Given the description of an element on the screen output the (x, y) to click on. 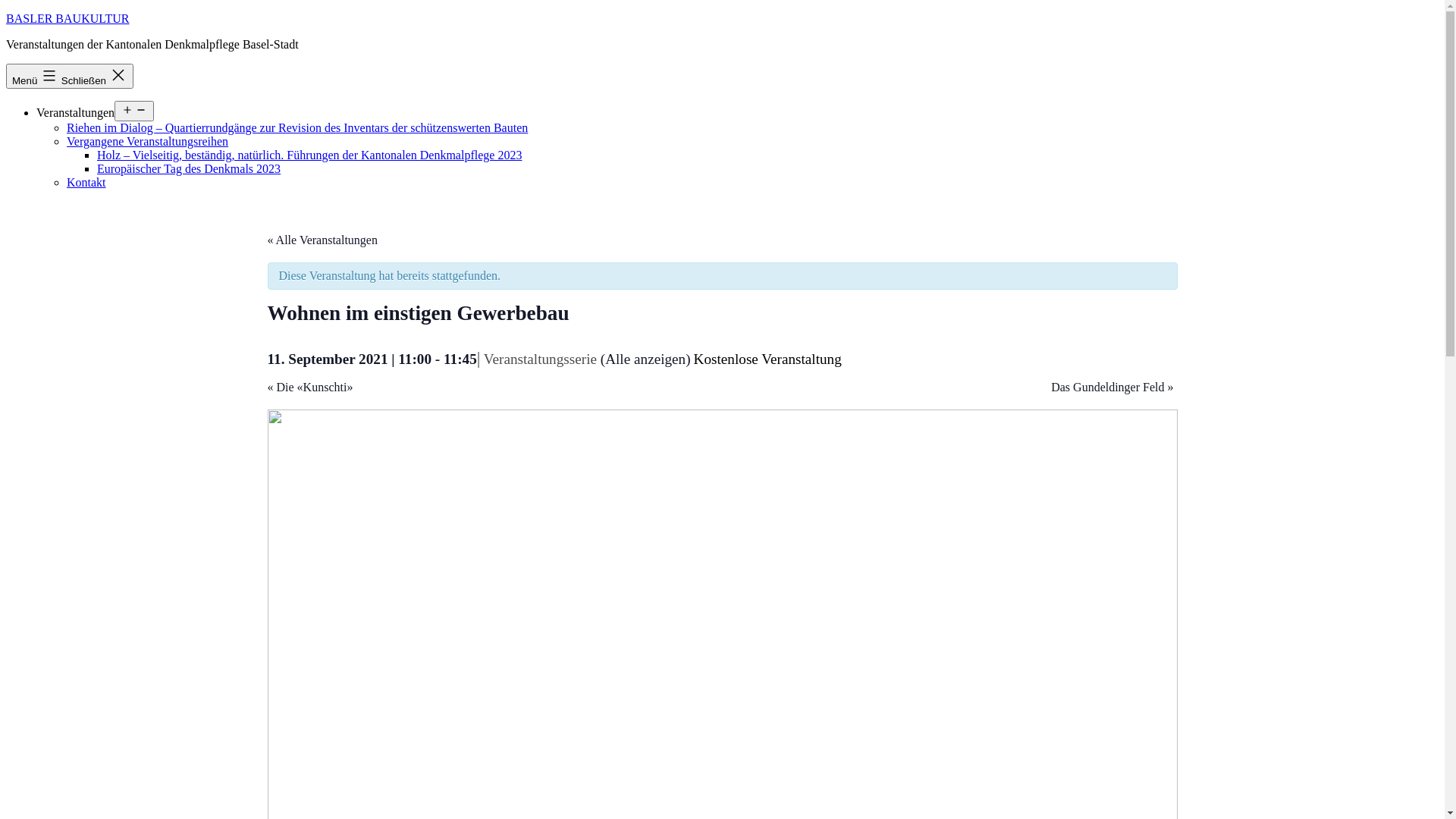
Kontakt Element type: text (86, 181)
Zum Inhalt springen Element type: text (6, 12)
BASLER BAUKULTUR Element type: text (67, 18)
(Alle anzeigen) Element type: text (645, 359)
Veranstaltungen Element type: text (75, 112)
Vergangene Veranstaltungsreihen Element type: text (147, 140)
